Given the description of an element on the screen output the (x, y) to click on. 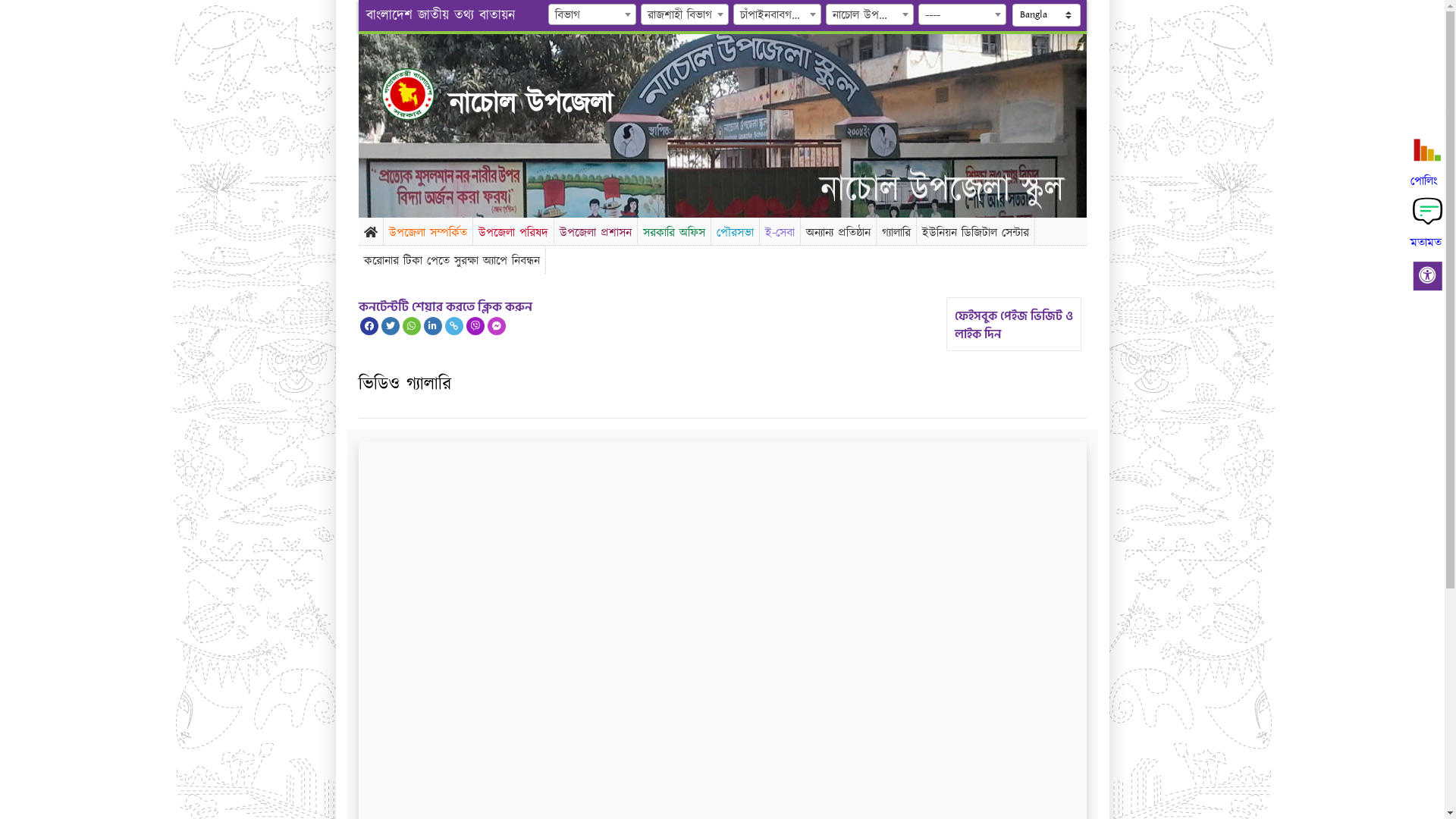

                
             Element type: hover (420, 93)
